Given the description of an element on the screen output the (x, y) to click on. 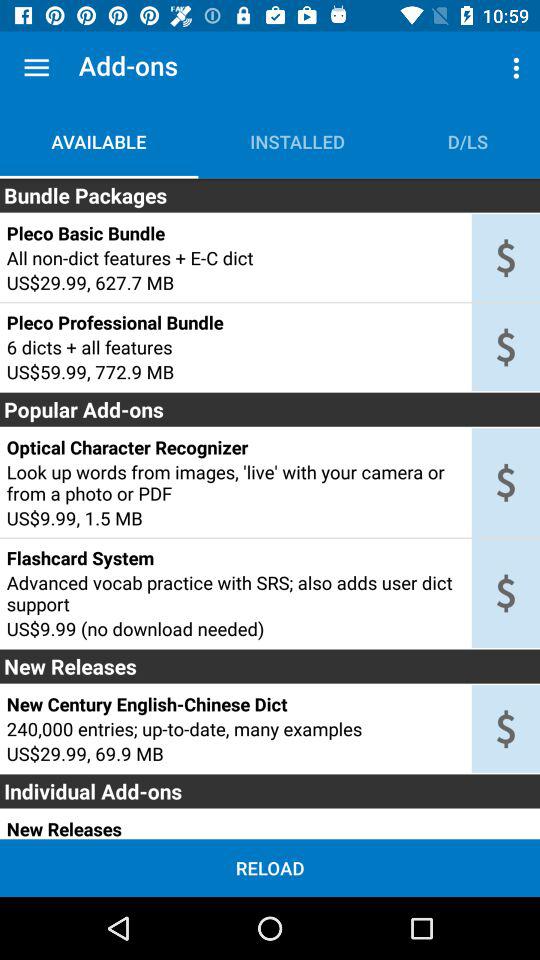
scroll to 240 000 entries icon (235, 728)
